Given the description of an element on the screen output the (x, y) to click on. 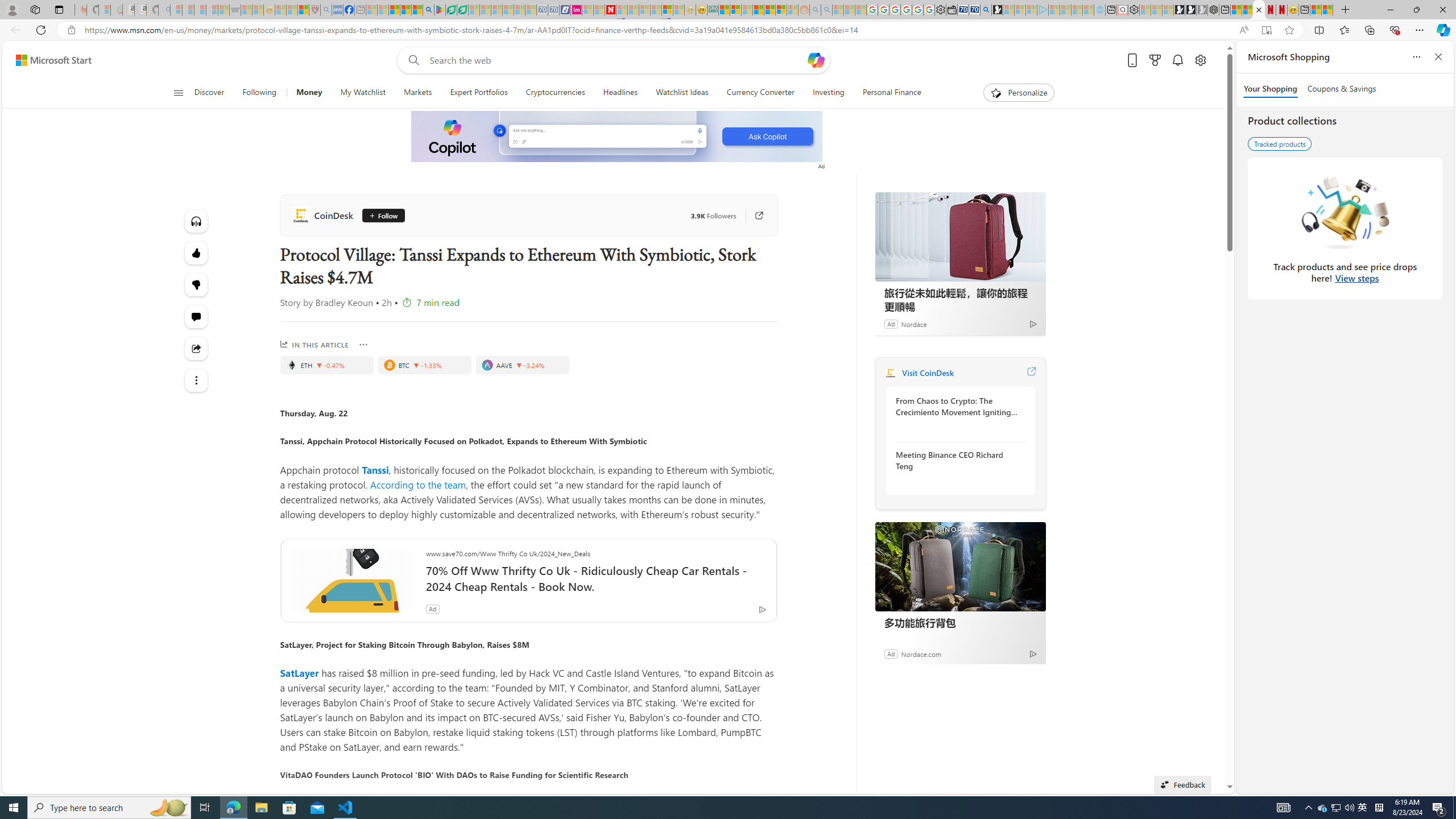
Cryptocurrencies (555, 92)
Kinda Frugal - MSN (769, 9)
Currency Converter (760, 92)
SatLayer (298, 672)
BTC, Bitcoin. Price is 60,500.89. Decreased by -1.33% (424, 365)
Ethereum (291, 365)
Aave (486, 365)
